Given the description of an element on the screen output the (x, y) to click on. 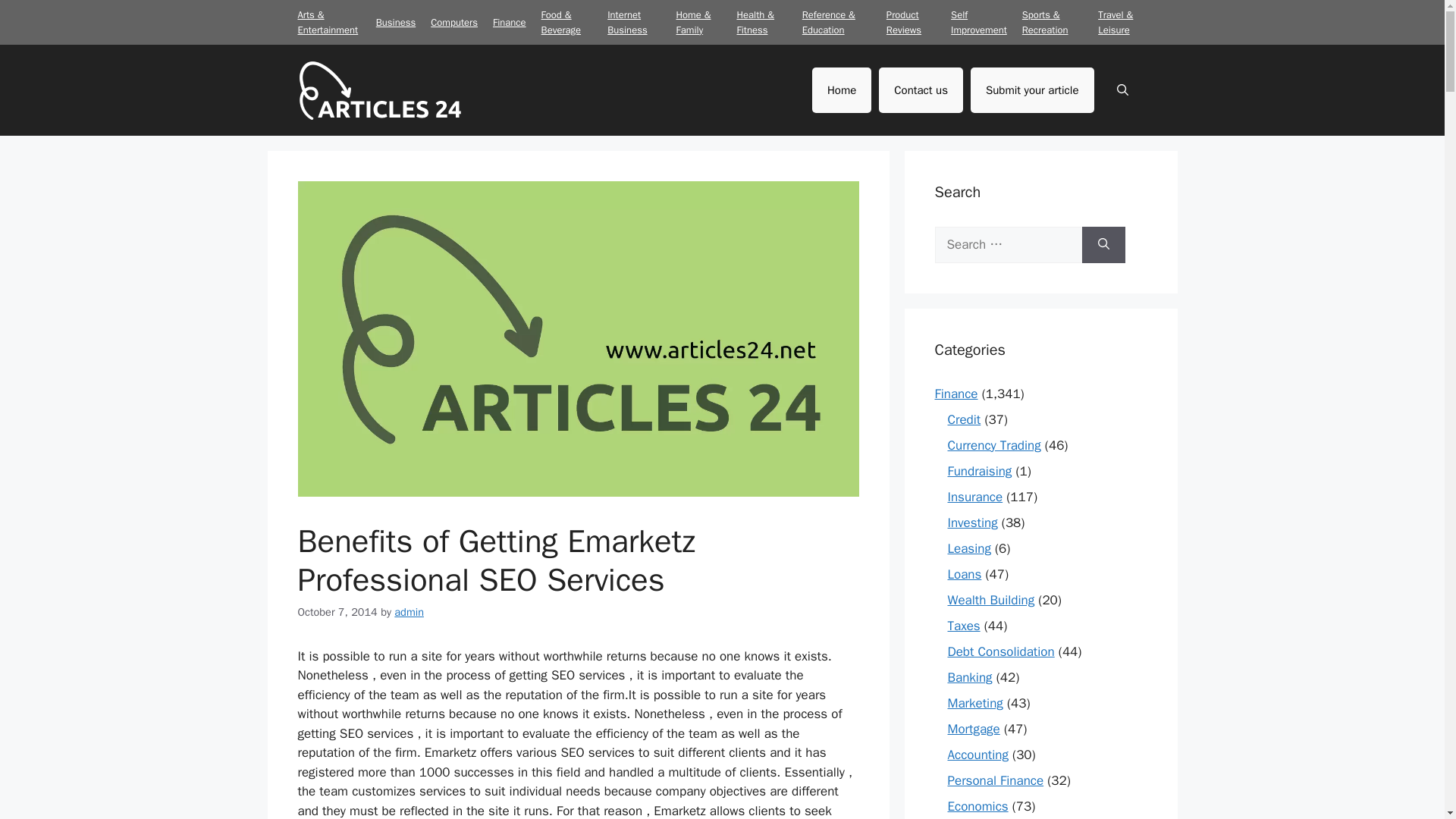
Business (394, 21)
Submit your article (1032, 90)
Contact us (920, 90)
Finance (509, 21)
Self Improvement (978, 22)
admin (408, 612)
Finance (955, 392)
Product Reviews (903, 22)
Home (841, 90)
Computers (453, 21)
